Given the description of an element on the screen output the (x, y) to click on. 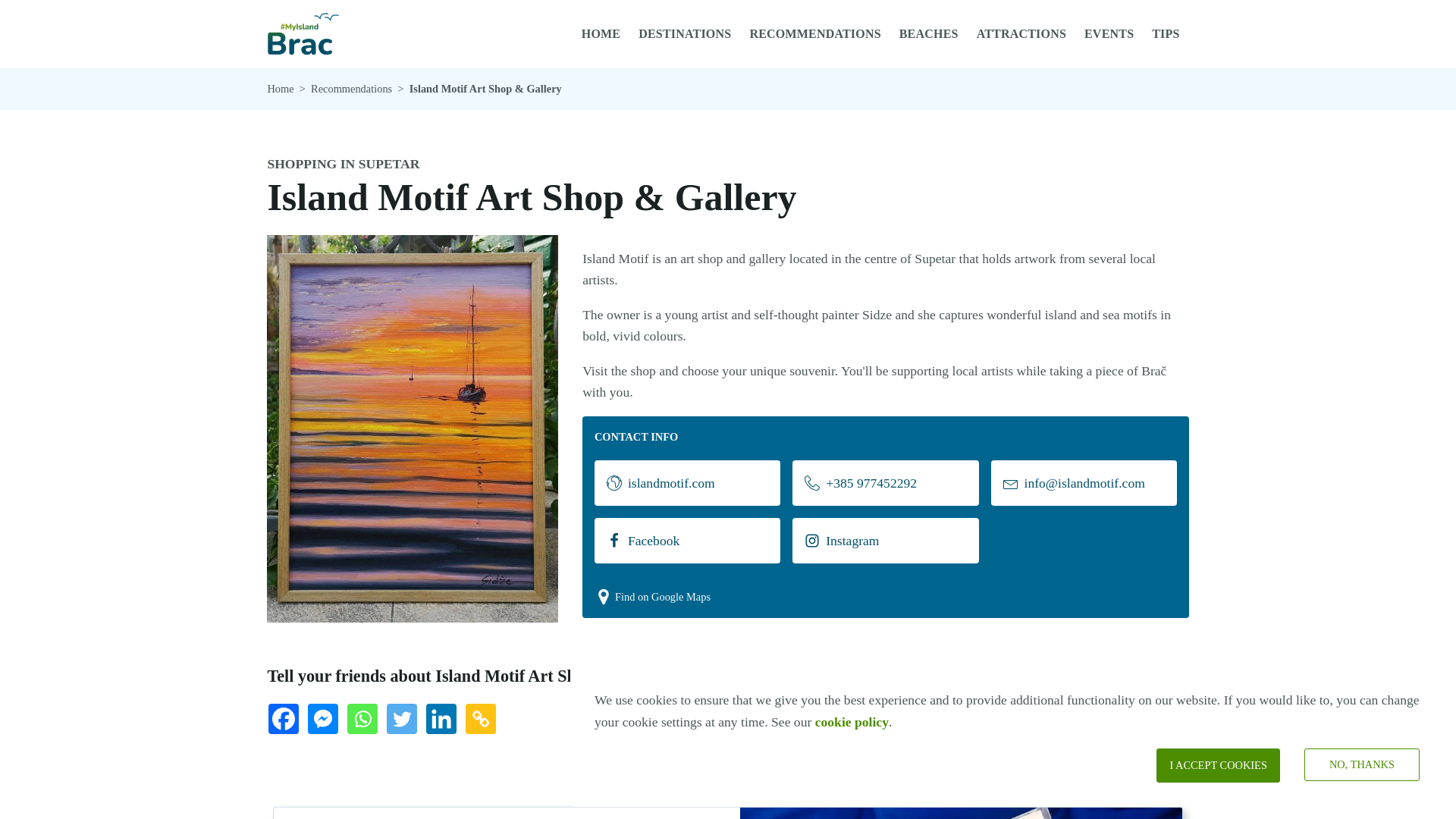
Find on Google Maps (652, 597)
Linkedin (444, 721)
Recommendations (351, 88)
islandmotif.com (687, 483)
TIPS (1165, 33)
Whatsapp (365, 721)
RECOMMENDATIONS (814, 33)
Facebook (687, 540)
Instagram (885, 540)
BEACHES (928, 33)
